Given the description of an element on the screen output the (x, y) to click on. 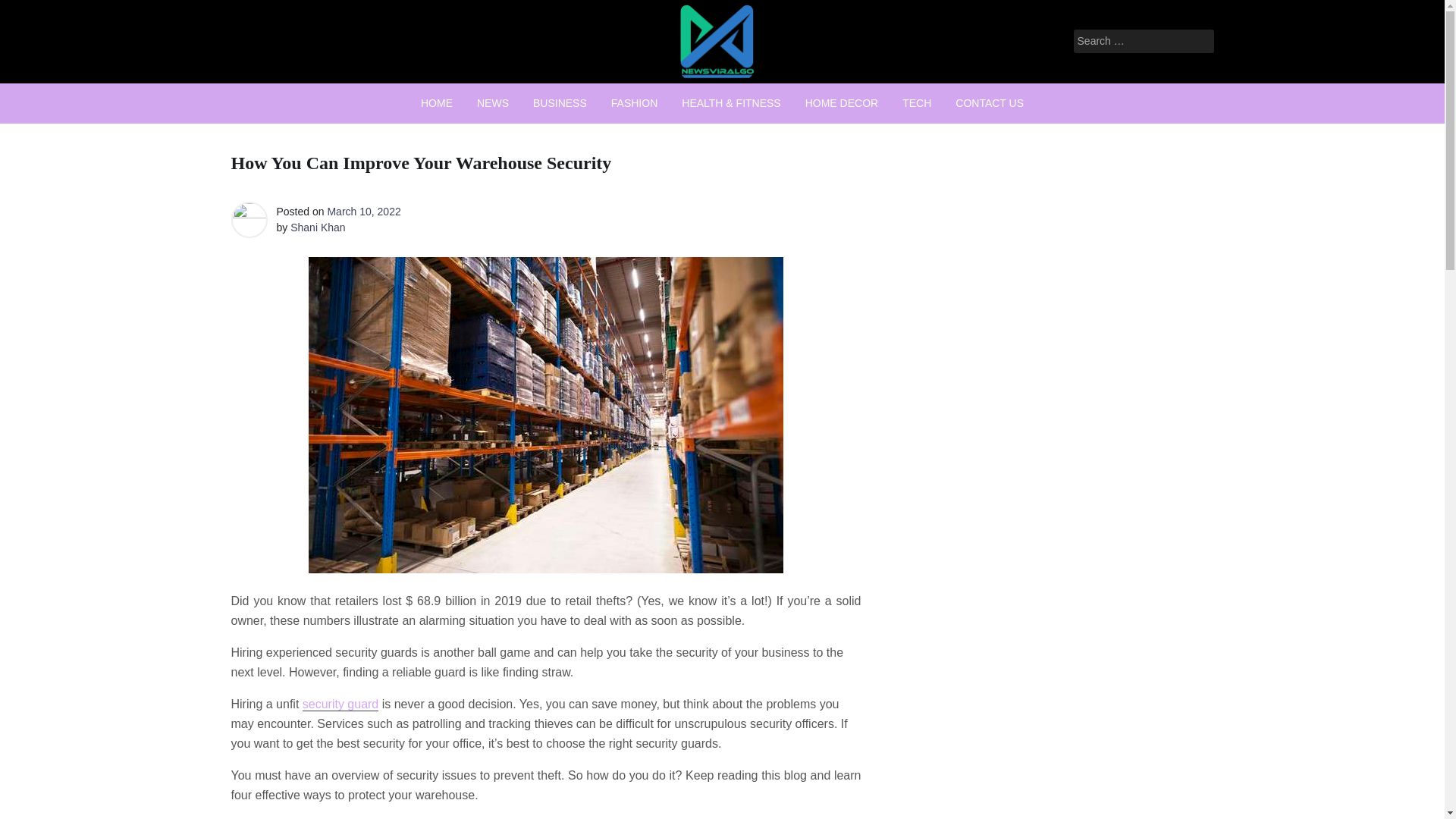
Search (32, 12)
NewsViralGo (645, 98)
Shani Khan (317, 227)
security guard (340, 704)
HOME (436, 103)
NEWS (492, 103)
TECH (916, 103)
HOME DECOR (841, 103)
BUSINESS (559, 103)
March 10, 2022 (363, 211)
